Given the description of an element on the screen output the (x, y) to click on. 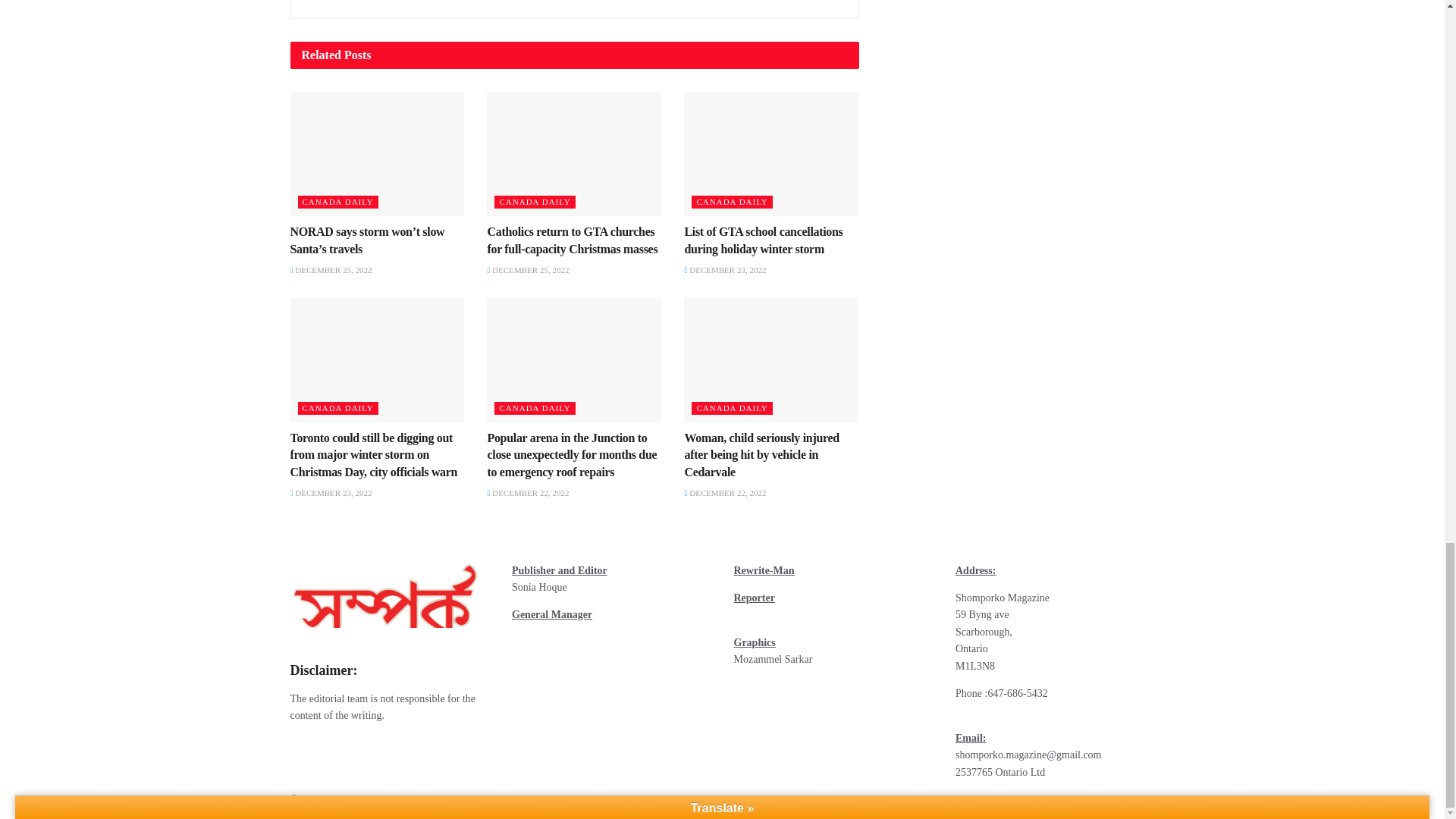
Logo (384, 600)
IT. Software and website development company (503, 799)
 magazine  (349, 799)
